Given the description of an element on the screen output the (x, y) to click on. 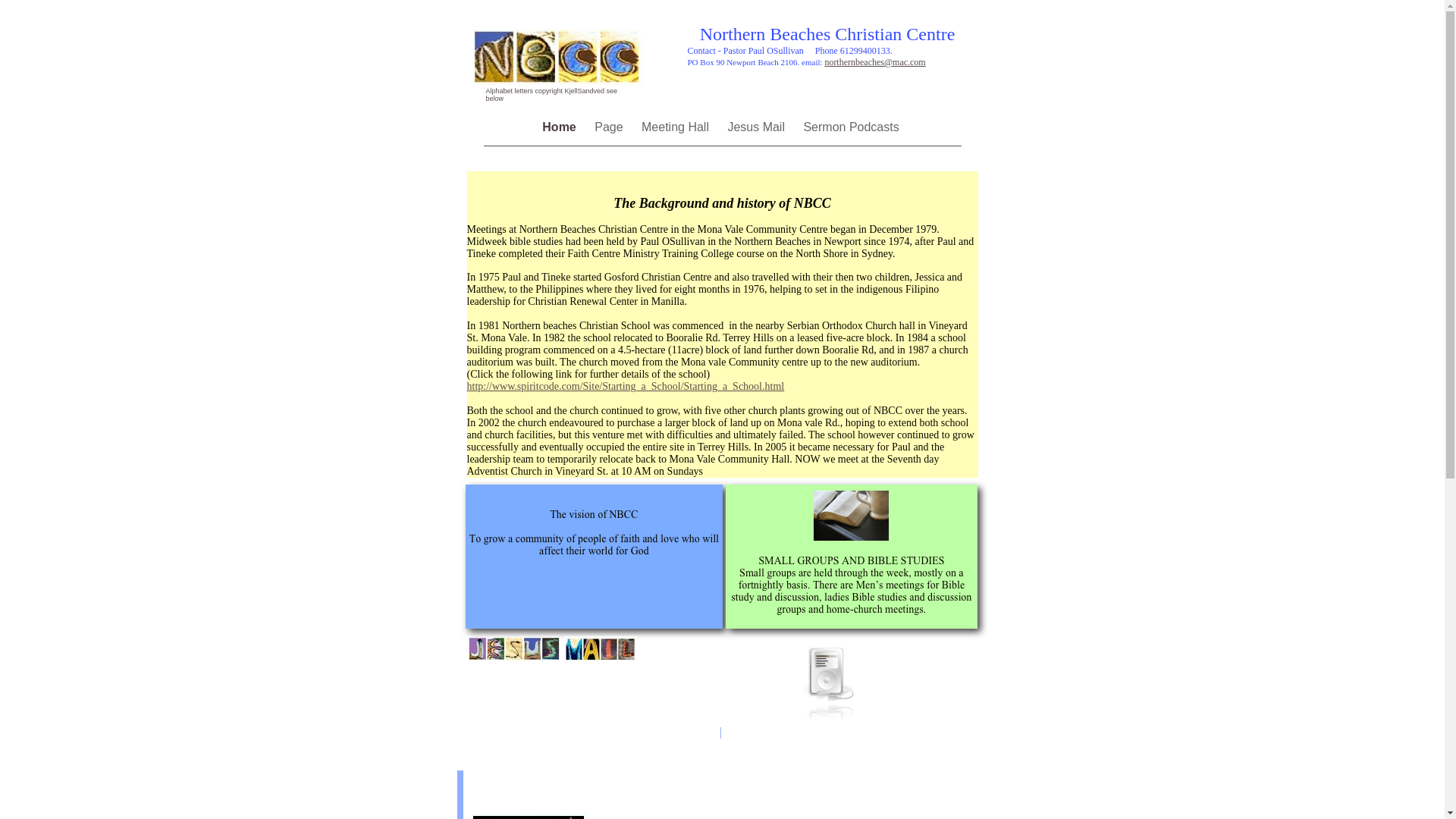
Jesus Mail Element type: text (757, 126)
Home Element type: text (560, 126)
northernbeaches@mac.com Element type: text (874, 61)
http://www.spiritcode.com/Site/Sermons/Sermons.html Element type: text (746, 199)
http://www.spiritcode.com/Site/Sermons/Sermons.html Element type: text (731, 184)
Meeting Hall Element type: text (676, 126)
http://www.spiritcode.com/Site/Sermons/Sermons.html Element type: text (723, 176)
Page Element type: text (610, 126)
http://www.spiritcode.com/Site/Sermons/Sermons.html Element type: text (738, 191)
Sermon Podcasts Element type: text (850, 126)
